Given the description of an element on the screen output the (x, y) to click on. 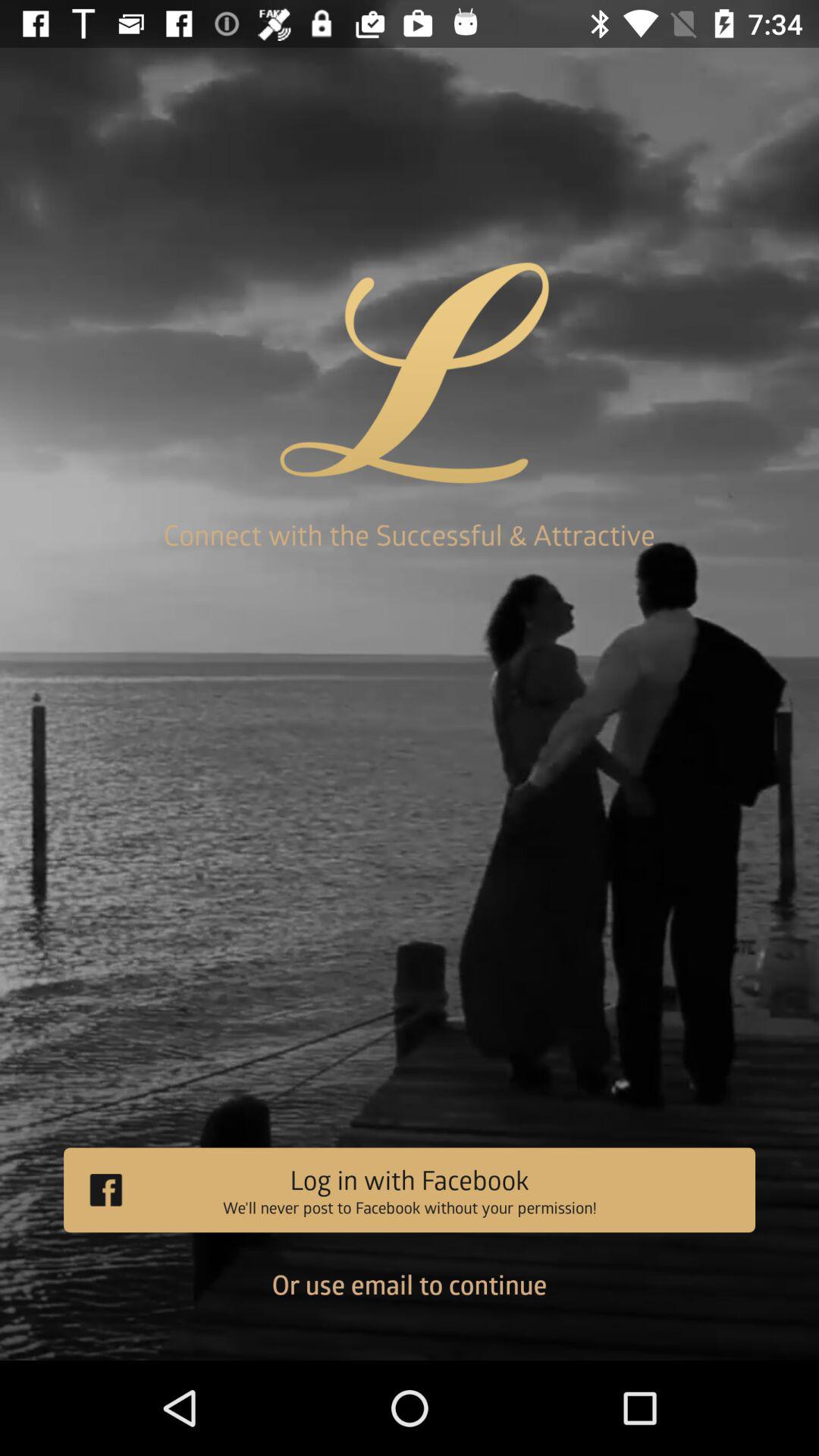
open the or use email (409, 1296)
